Given the description of an element on the screen output the (x, y) to click on. 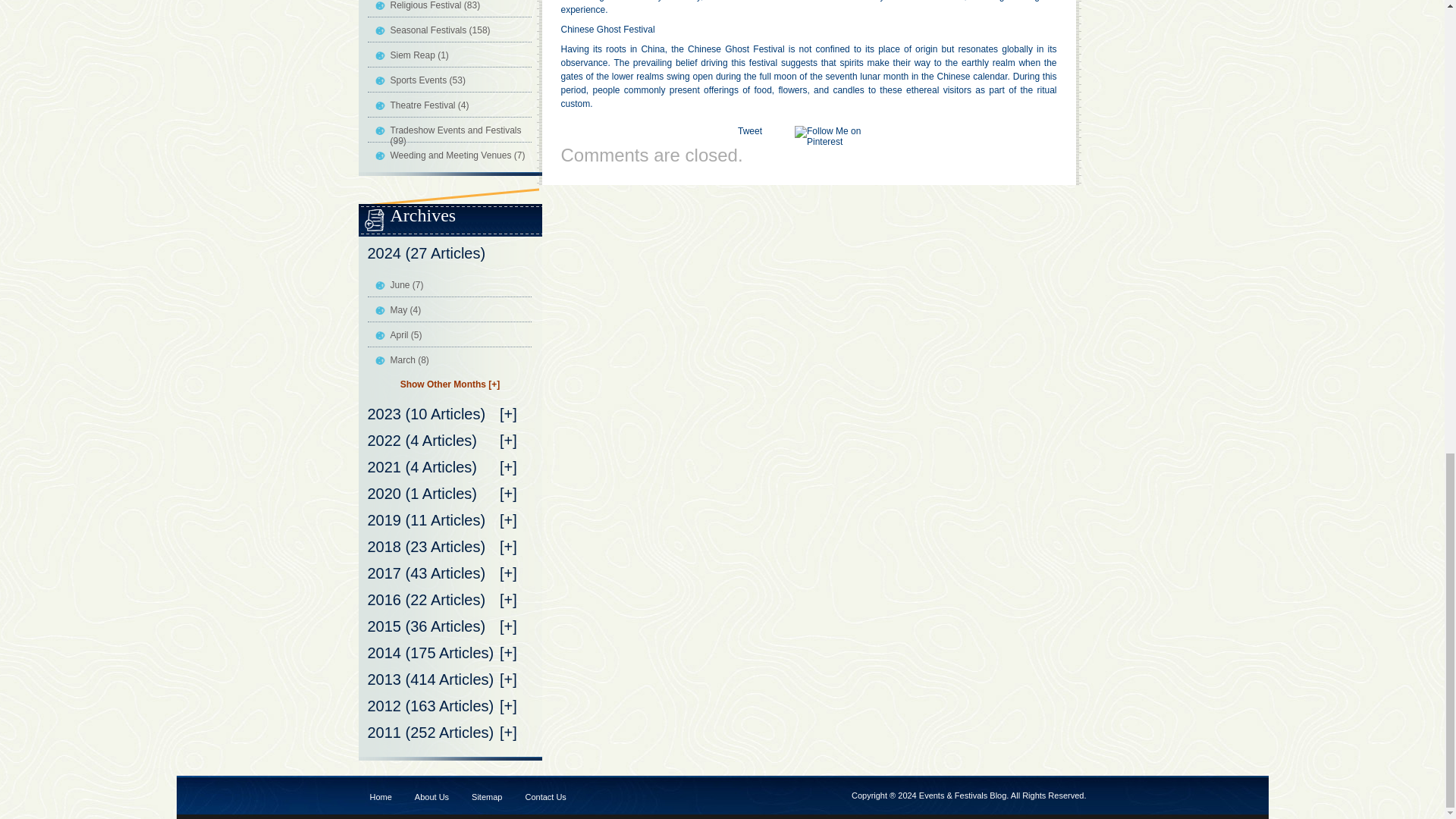
Pin It (834, 136)
